Given the description of an element on the screen output the (x, y) to click on. 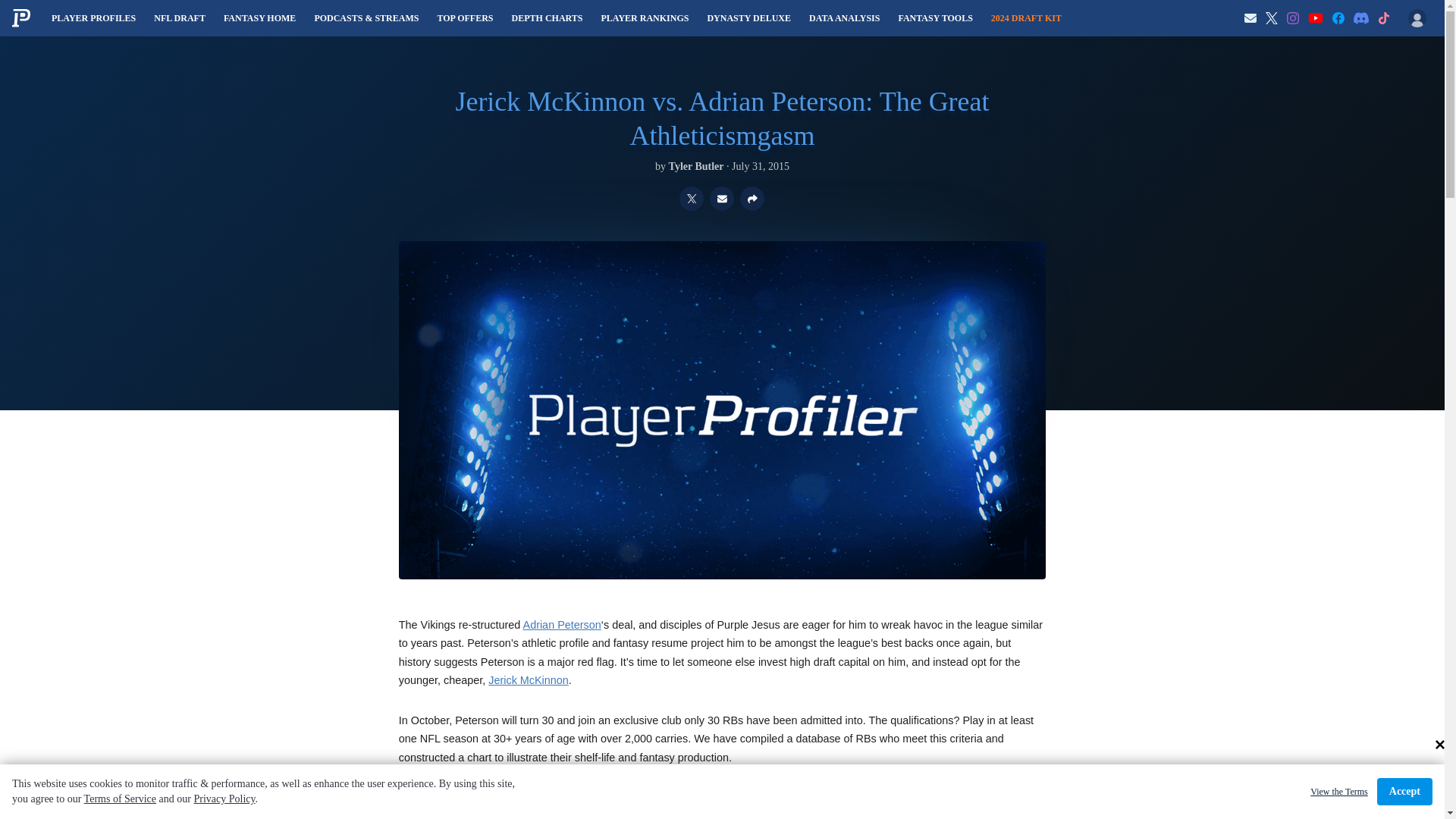
RotoUnderworld on Instagram (1292, 18)
RotoUnderworld on Discord (1361, 17)
TOP OFFERS (465, 18)
FANTASY HOME (259, 18)
RotoUnderworld on Facebook (1337, 18)
DEPTH CHARTS (547, 18)
NFL DRAFT (179, 18)
RotoUnderworld on Tiktok (1383, 18)
PlayerProfiler on X (1271, 18)
RotoUnderworld on YouTube (1315, 17)
